Given the description of an element on the screen output the (x, y) to click on. 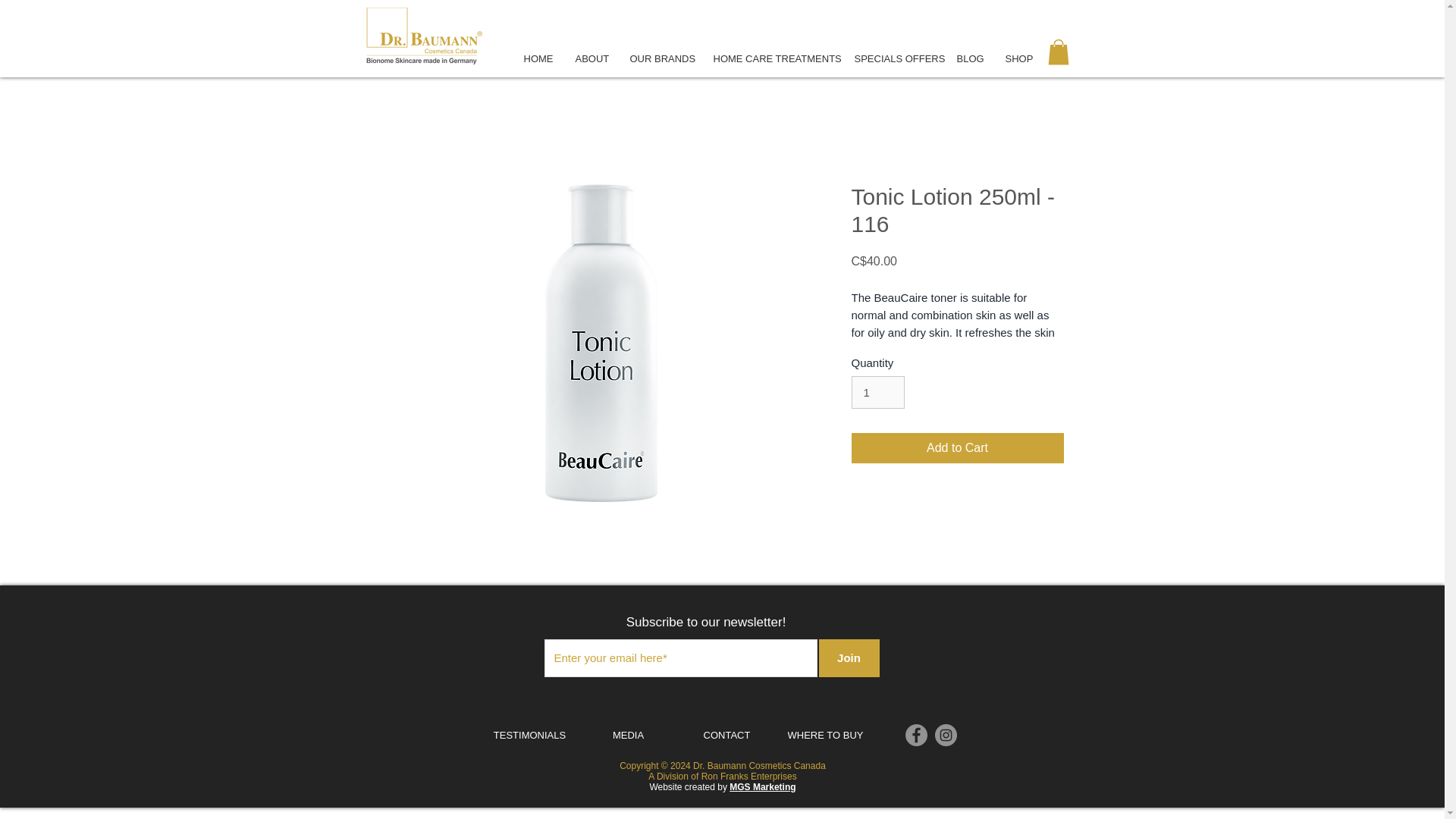
SPECIALS OFFERS (893, 58)
CONTACT (727, 735)
Join (848, 658)
SHOP (1017, 58)
Add to Cart (956, 448)
WHERE TO BUY (825, 735)
HOME (538, 58)
BLOG (968, 58)
MEDIA (628, 735)
ABOUT (591, 58)
